Given the description of an element on the screen output the (x, y) to click on. 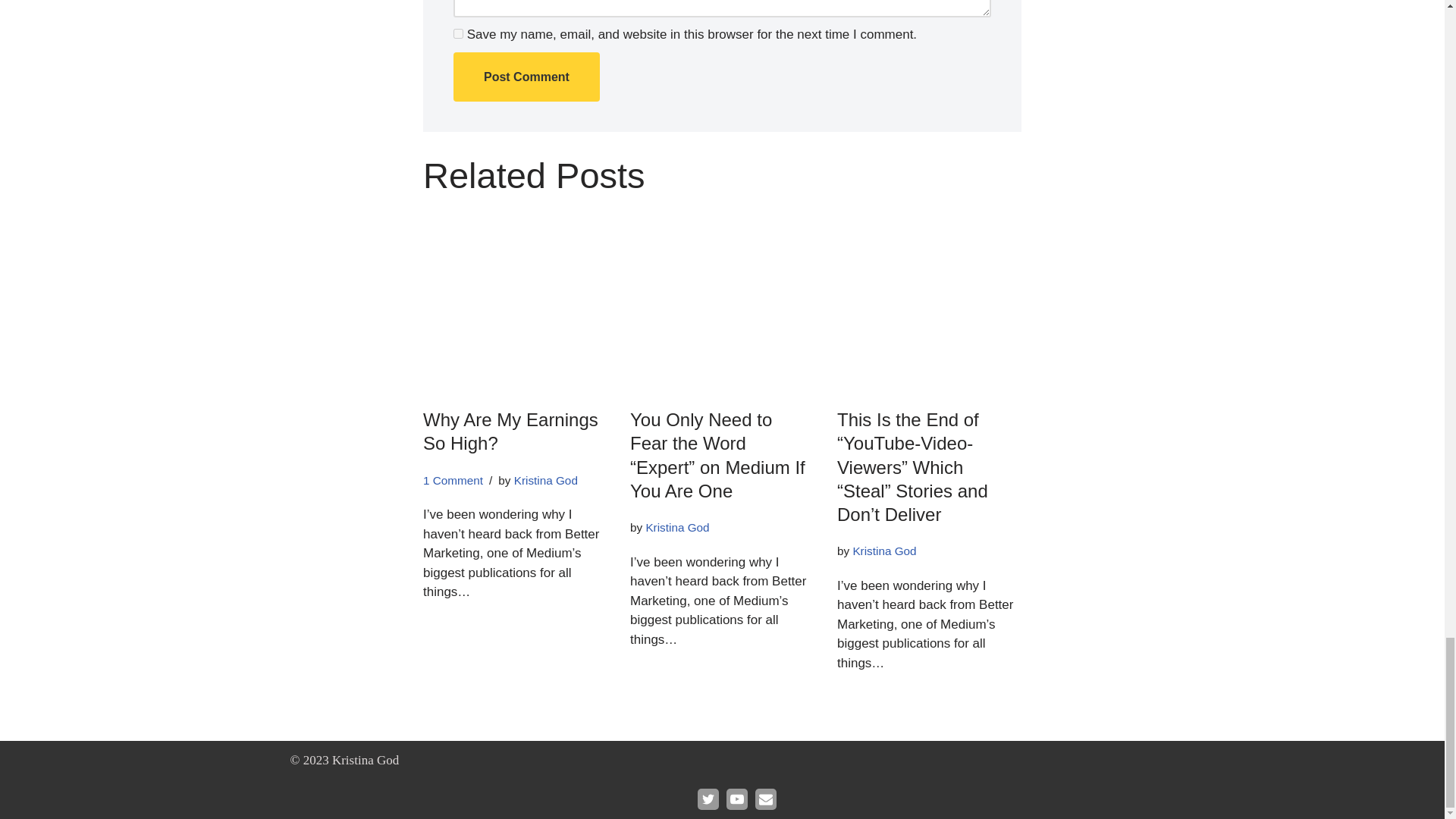
Kristina God (545, 480)
Post Comment (525, 77)
Kristina God (883, 550)
Posts by Kristina God (545, 480)
Why Are My Earnings So High? (510, 431)
Twitter (708, 798)
1 Comment (453, 480)
Posts by Kristina God (883, 550)
Kristina God (677, 526)
Posts by Kristina God (677, 526)
Post Comment (525, 77)
Youtube (737, 798)
Substack (765, 798)
yes (457, 33)
